Given the description of an element on the screen output the (x, y) to click on. 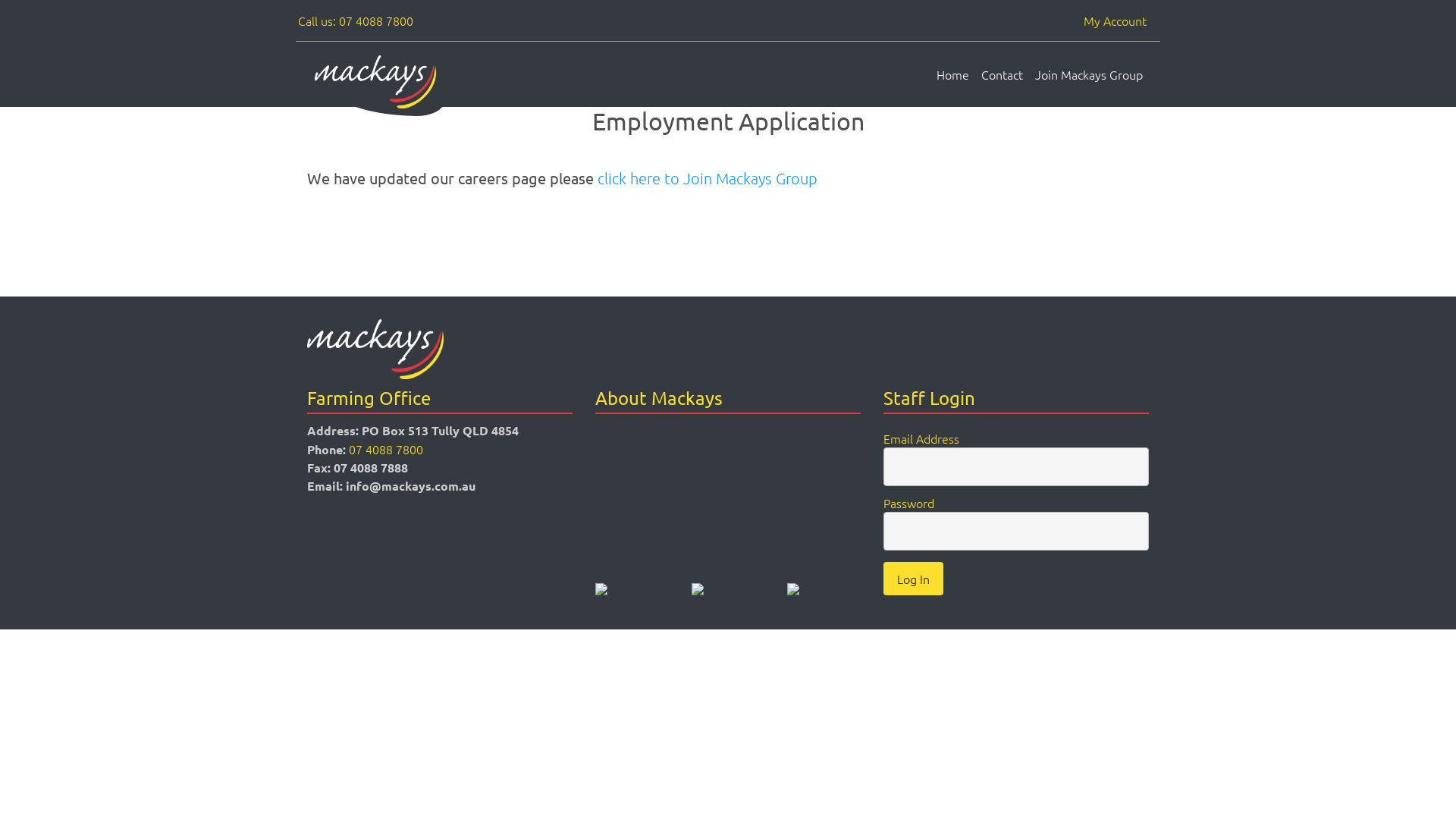
My Account Element type: text (1115, 20)
07 4088 7800 Element type: text (385, 448)
Contact Element type: text (1002, 74)
Join Mackays Group Element type: text (1088, 74)
Home Element type: text (952, 74)
Call us: 07 4088 7800 Element type: text (355, 20)
Mackays Home Element type: hover (375, 349)
click here to Join Mackays Group Element type: text (707, 178)
Log In Element type: text (913, 578)
Mackays Home Element type: hover (375, 81)
